Given the description of an element on the screen output the (x, y) to click on. 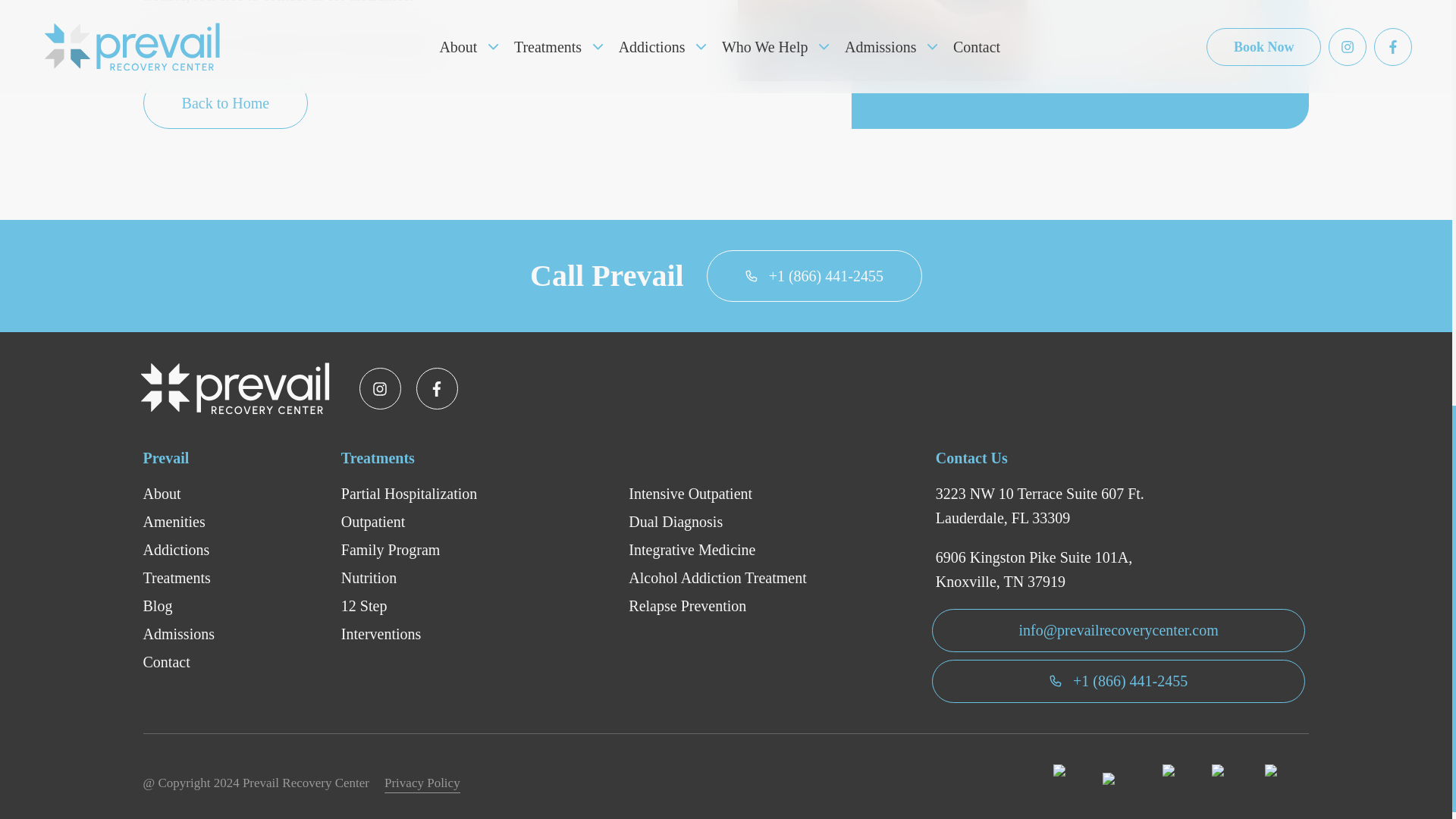
Facebook (437, 388)
Instagram (380, 388)
Prevail Recovery Center (237, 388)
Verify LegitScript Approval (1286, 783)
